Given the description of an element on the screen output the (x, y) to click on. 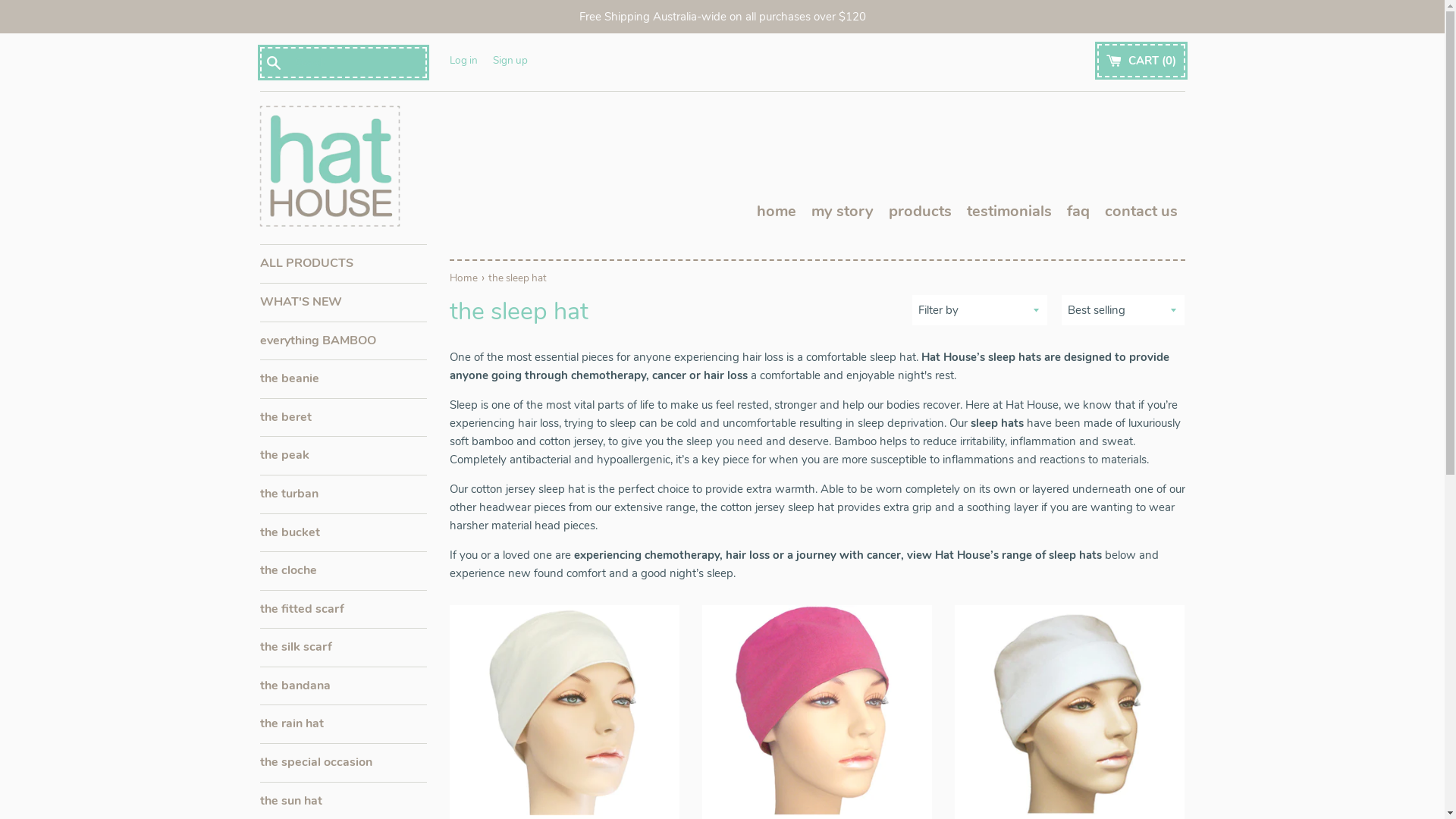
CART (0) Element type: text (1140, 60)
the peak Element type: text (342, 455)
contact us Element type: text (1140, 211)
the bandana Element type: text (342, 686)
the cloche Element type: text (342, 570)
products Element type: text (919, 211)
home Element type: text (776, 211)
the beret Element type: text (342, 417)
the fitted scarf Element type: text (342, 609)
the beanie Element type: text (342, 379)
the silk scarf Element type: text (342, 647)
the rain hat Element type: text (342, 724)
Search Element type: text (272, 61)
Free Shipping Australia-wide on all purchases over $120 Element type: text (722, 16)
Log in Element type: text (462, 60)
faq Element type: text (1077, 211)
my story Element type: text (842, 211)
the turban Element type: text (342, 494)
the bucket Element type: text (342, 533)
testimonials Element type: text (1008, 211)
WHAT'S NEW Element type: text (342, 302)
Sign up Element type: text (509, 60)
the special occasion Element type: text (342, 762)
everything BAMBOO Element type: text (342, 341)
Home Element type: text (463, 277)
ALL PRODUCTS Element type: text (342, 263)
